Given the description of an element on the screen output the (x, y) to click on. 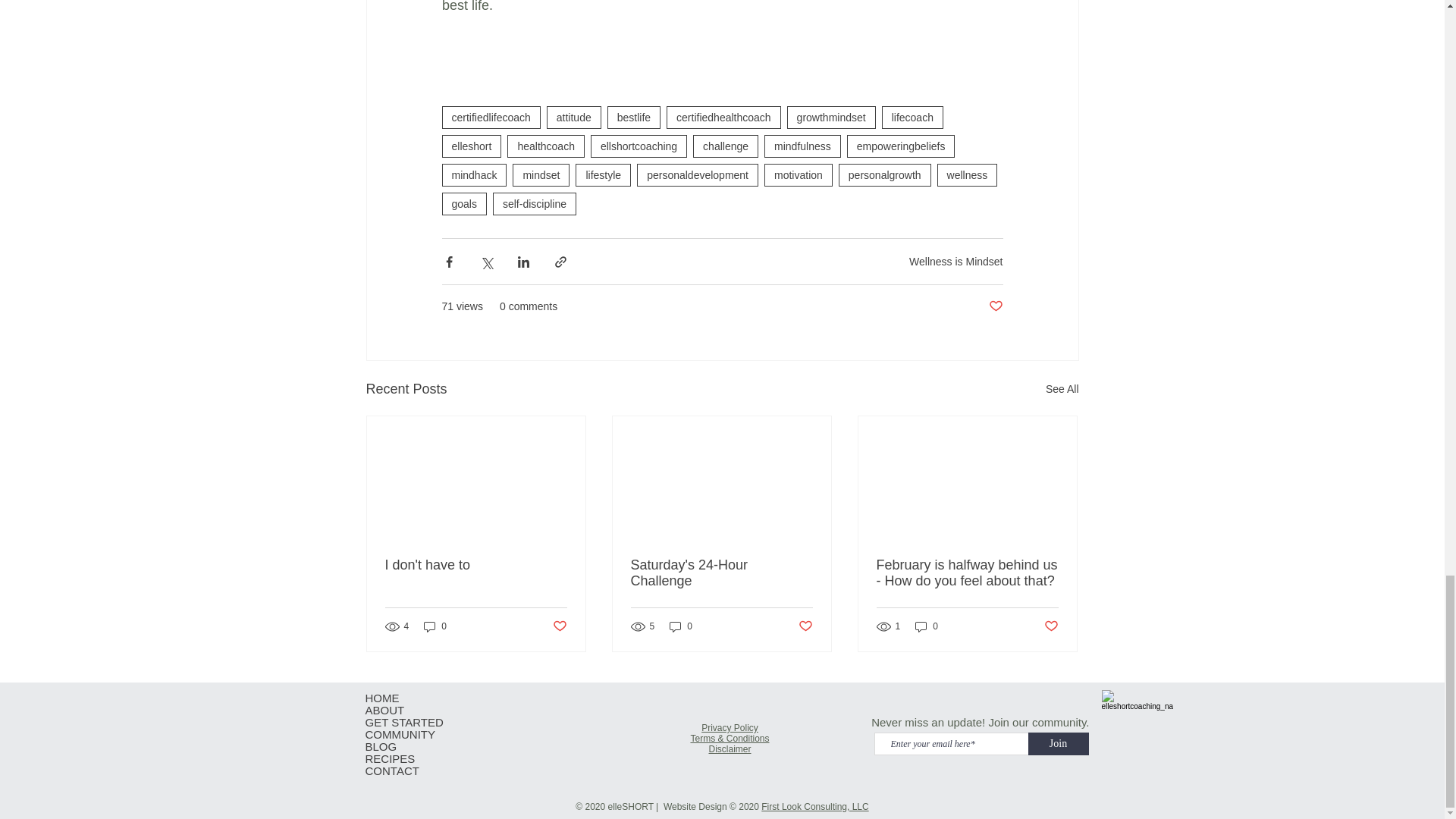
growthmindset (831, 117)
attitude (574, 117)
bestlife (634, 117)
certifiedhealthcoach (723, 117)
elleshort (470, 146)
mindfulness (802, 146)
healthcoach (545, 146)
ellshortcoaching (639, 146)
empoweringbeliefs (901, 146)
certifiedlifecoach (490, 117)
